Given the description of an element on the screen output the (x, y) to click on. 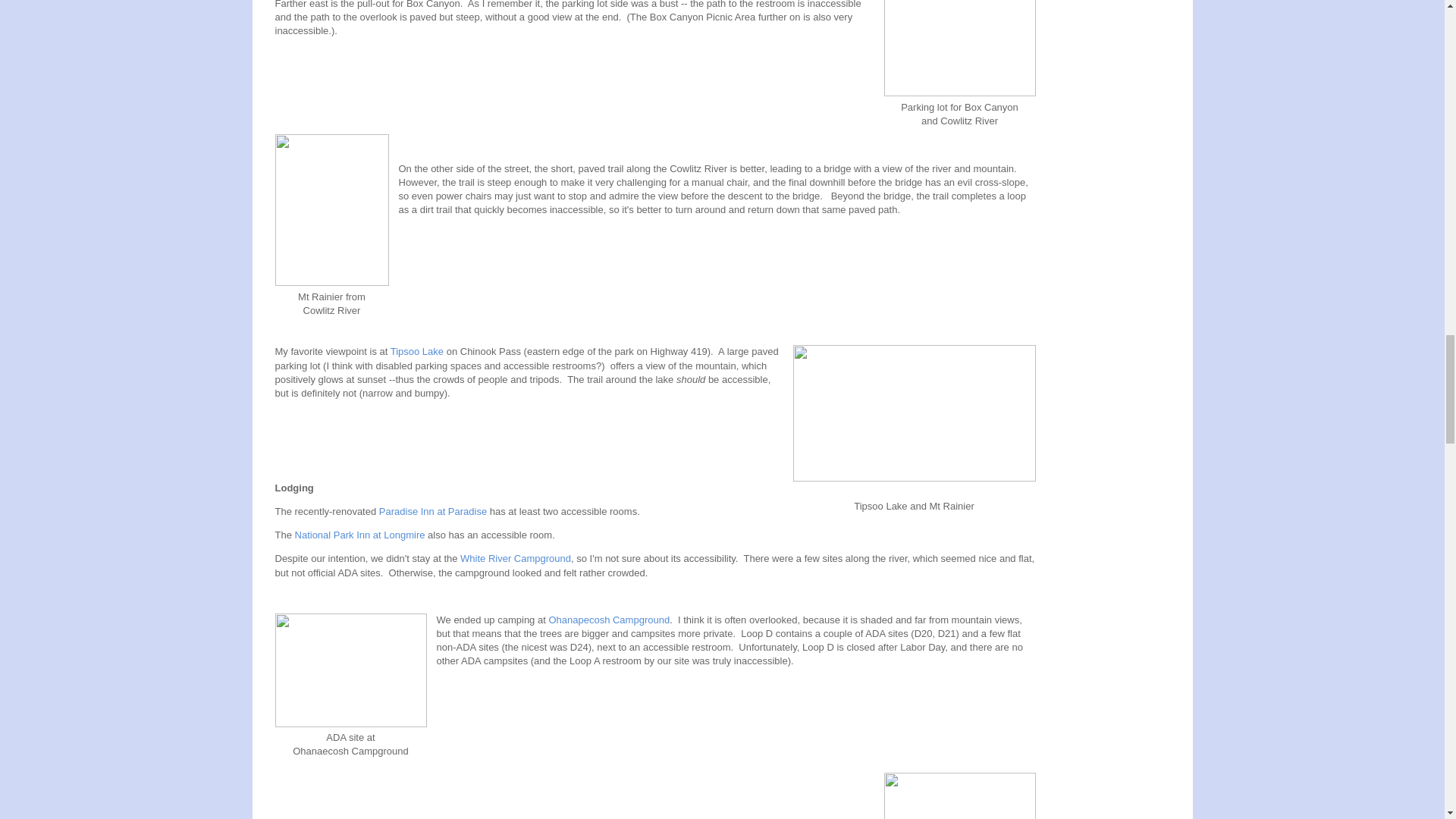
Tipsoo Lake (417, 351)
Paradise Inn at Paradise (432, 511)
Ohanapecosh Campground (608, 619)
National Park Inn at Longmire (360, 534)
White River Campground (515, 558)
